Given the description of an element on the screen output the (x, y) to click on. 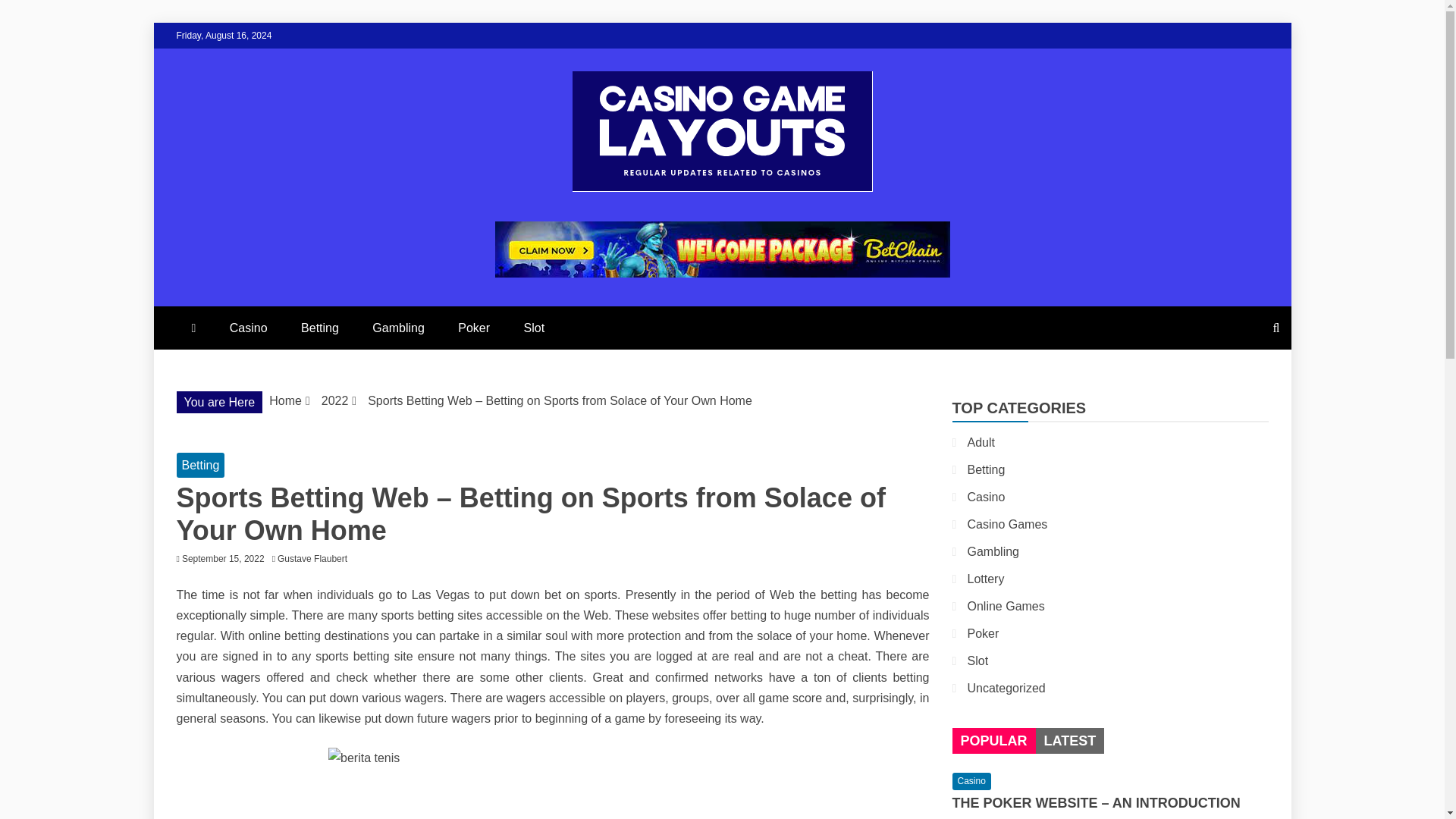
Adult (981, 441)
CASINO GAME LAYOUTS (477, 226)
2022 (335, 400)
Poker (473, 327)
Casino Games (1008, 523)
Home (285, 400)
Betting (200, 464)
Slot (534, 327)
Betting (987, 469)
Lottery (986, 578)
